Given the description of an element on the screen output the (x, y) to click on. 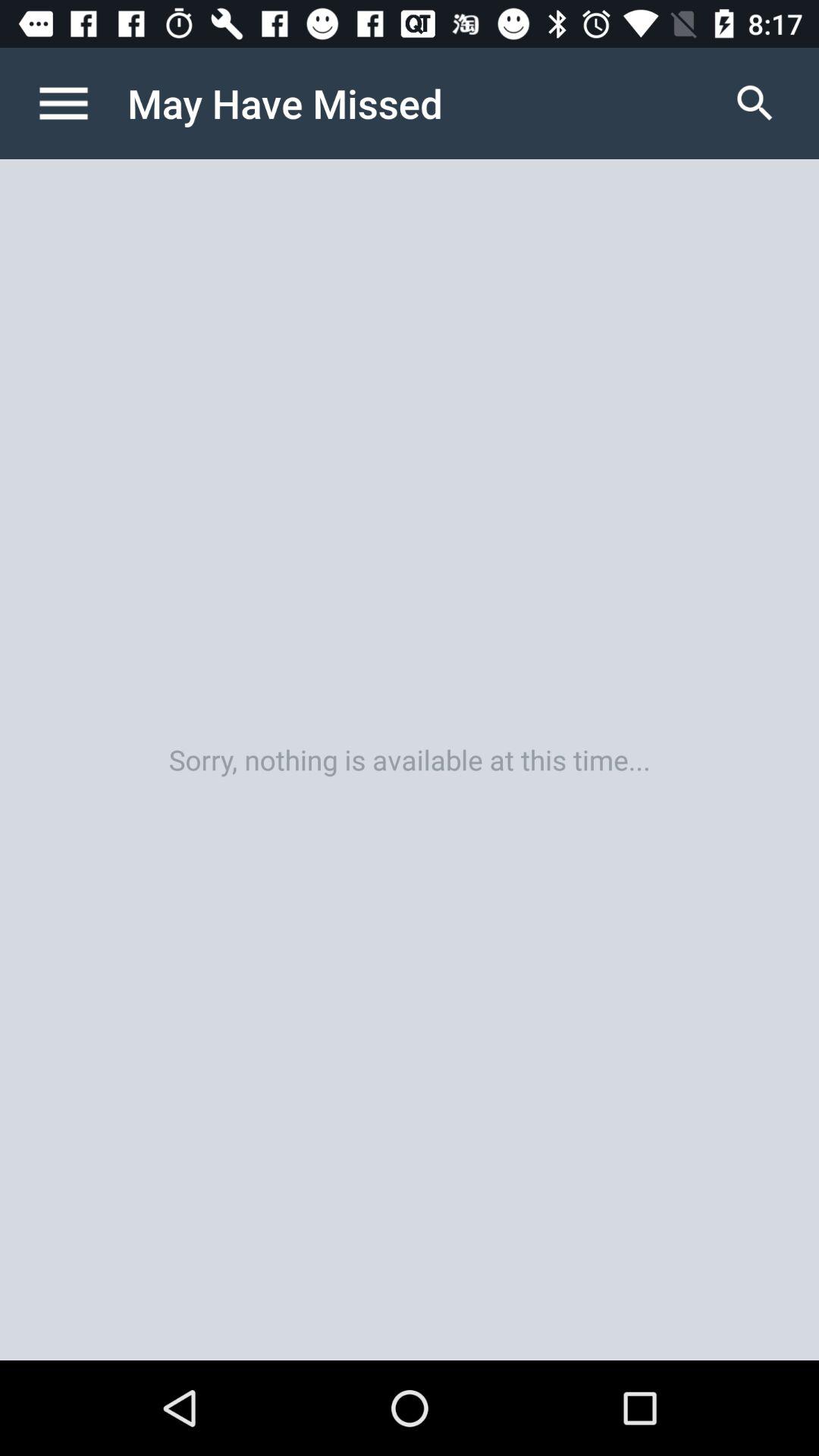
select the icon above sorry nothing is icon (755, 103)
